Given the description of an element on the screen output the (x, y) to click on. 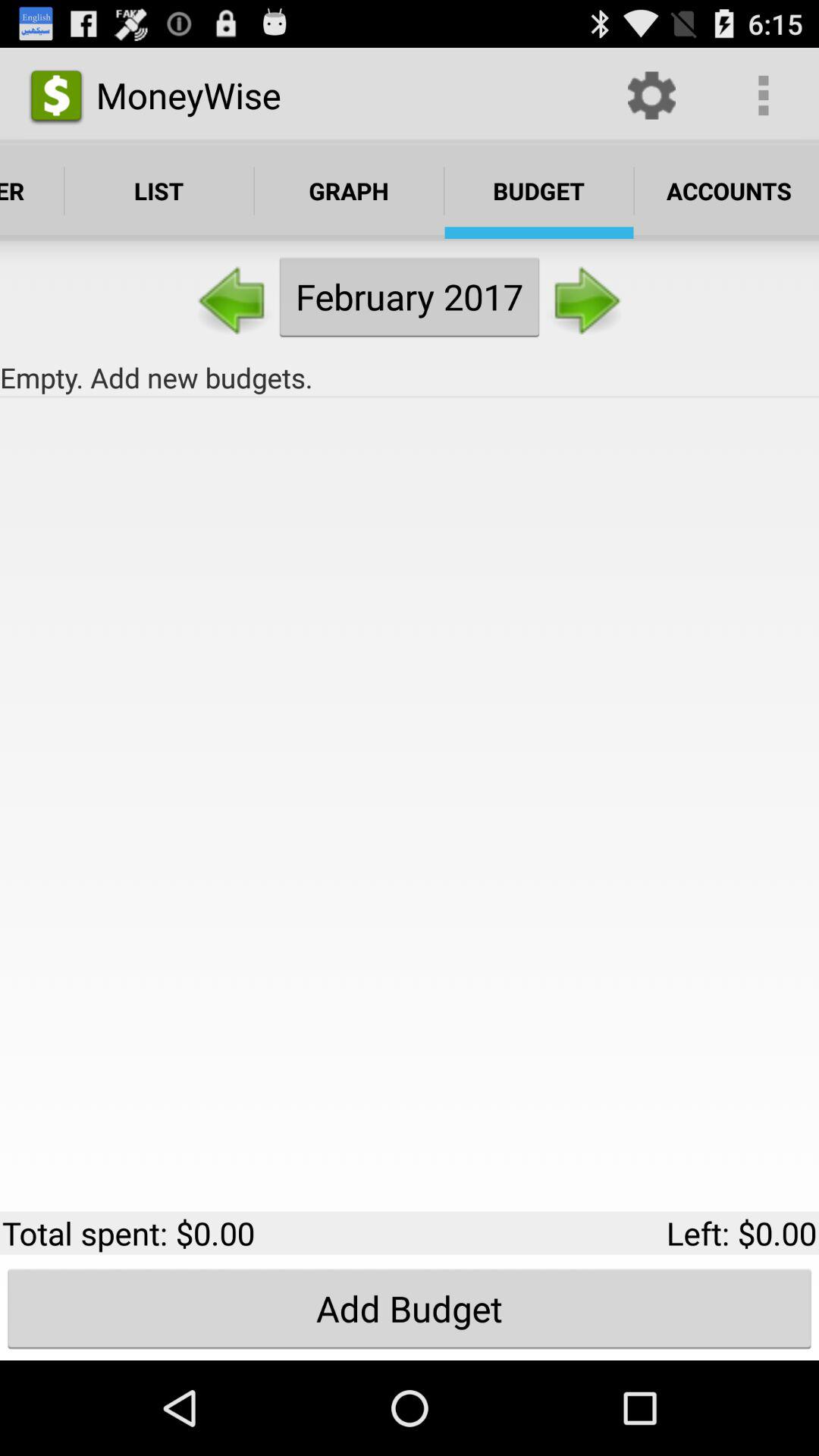
swipe to add budget button (409, 1308)
